Given the description of an element on the screen output the (x, y) to click on. 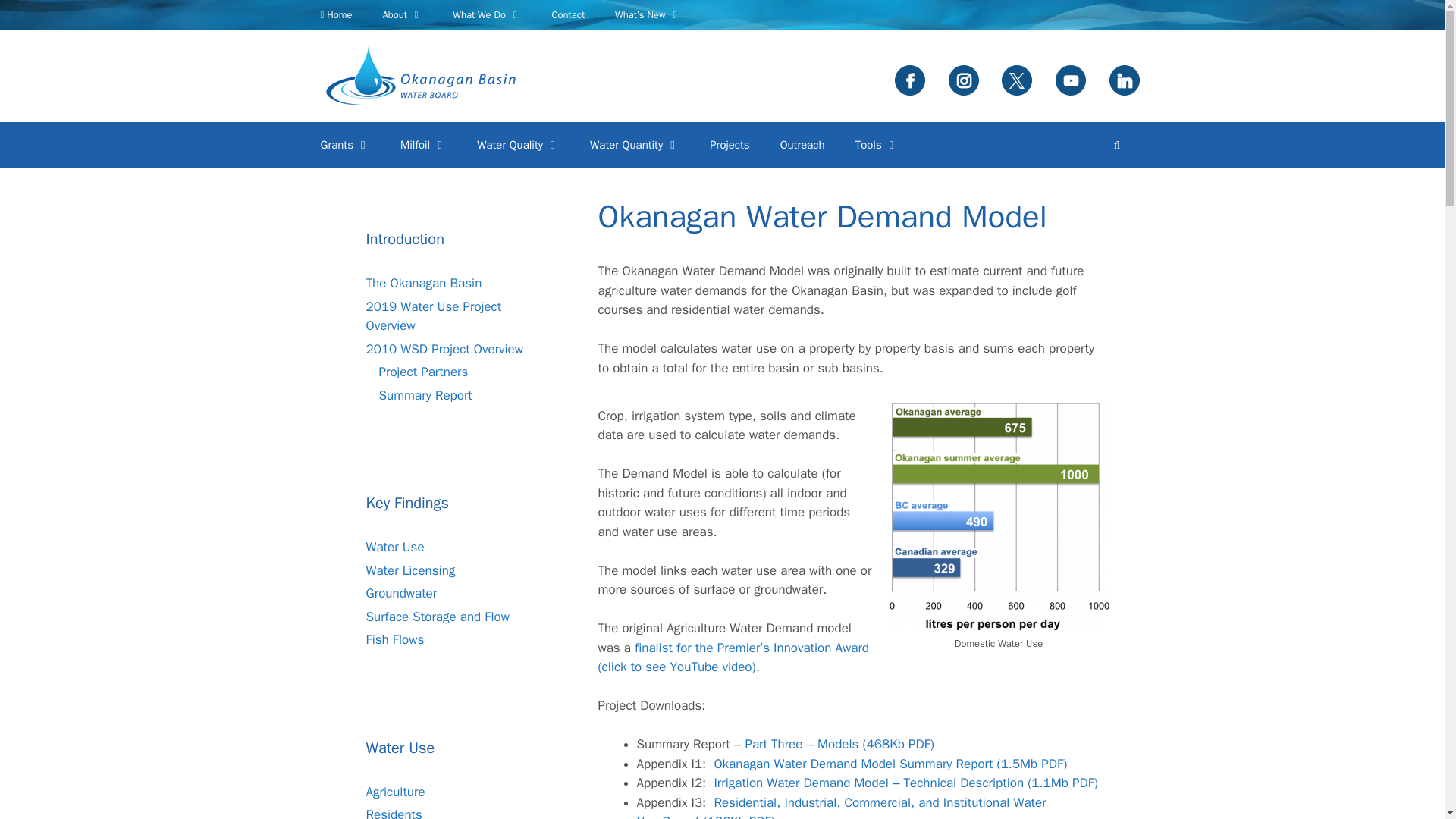
About (402, 15)
Home (335, 15)
 Home (335, 15)
Contact (567, 15)
What We Do (486, 15)
About (402, 15)
